Given the description of an element on the screen output the (x, y) to click on. 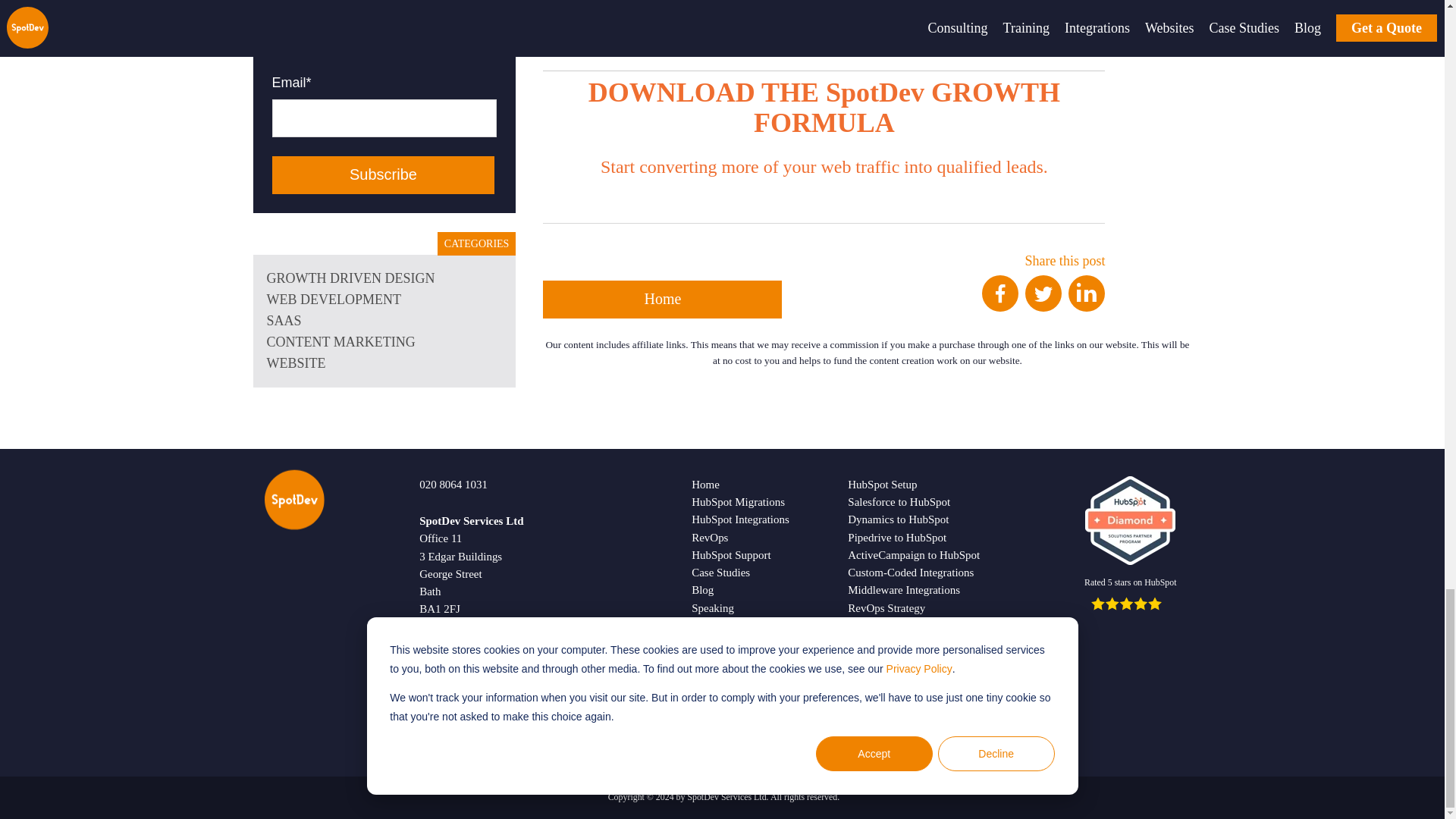
Share on LinkedIn (1086, 306)
Twitter (1043, 306)
5 Star Rating (1130, 603)
Share on Twitter (1043, 306)
Facebook (999, 293)
Share on Facebook (999, 306)
Facebook (999, 306)
Home (662, 299)
Twitter (1043, 293)
hubspot-diamond-partner-badge-colour (1129, 520)
LinkedIn (1086, 306)
SpotDev Logo (294, 503)
LinkedIn (1086, 293)
